Given the description of an element on the screen output the (x, y) to click on. 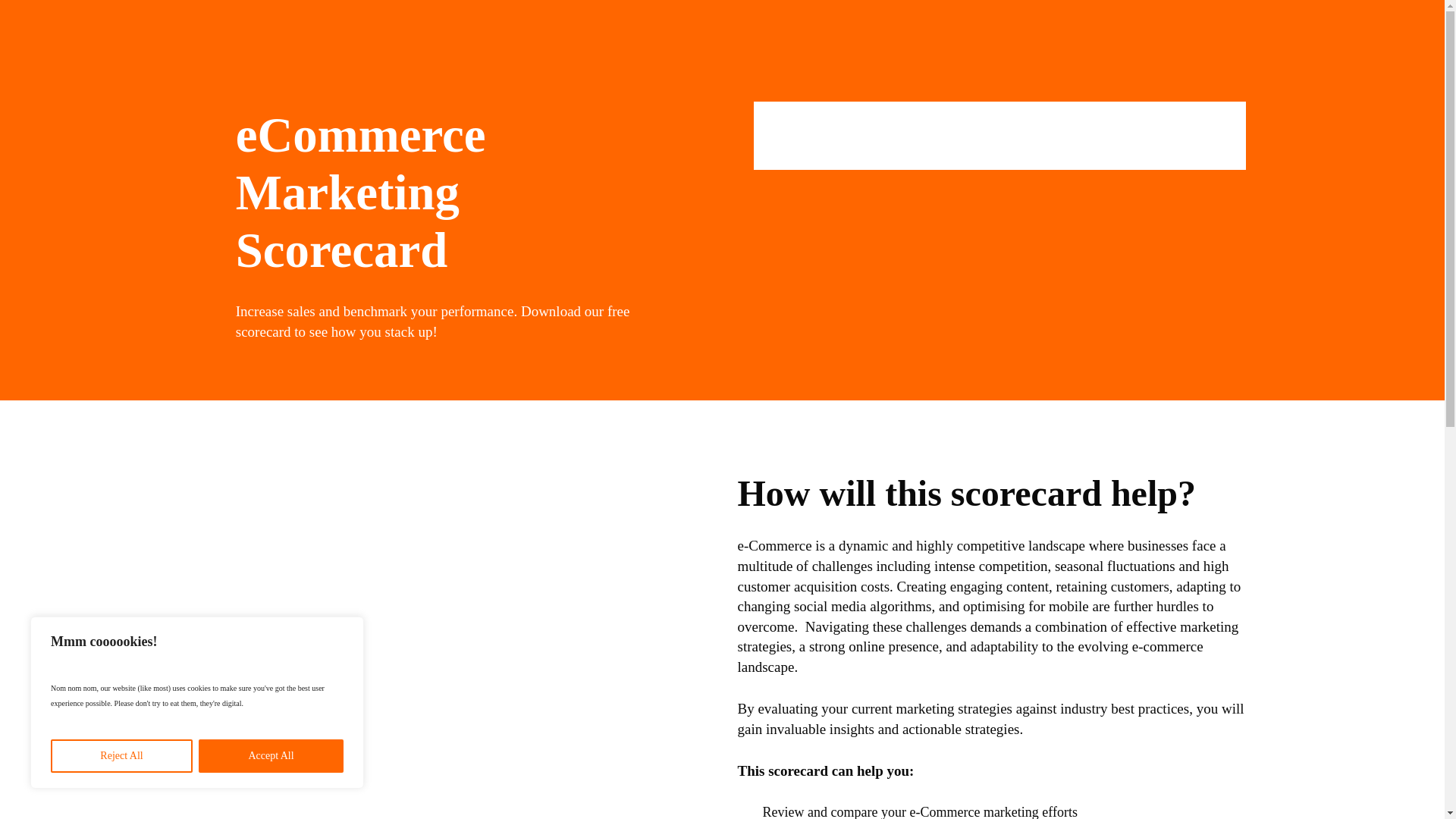
Accept All Element type: text (270, 755)
Reject All Element type: text (121, 755)
